Given the description of an element on the screen output the (x, y) to click on. 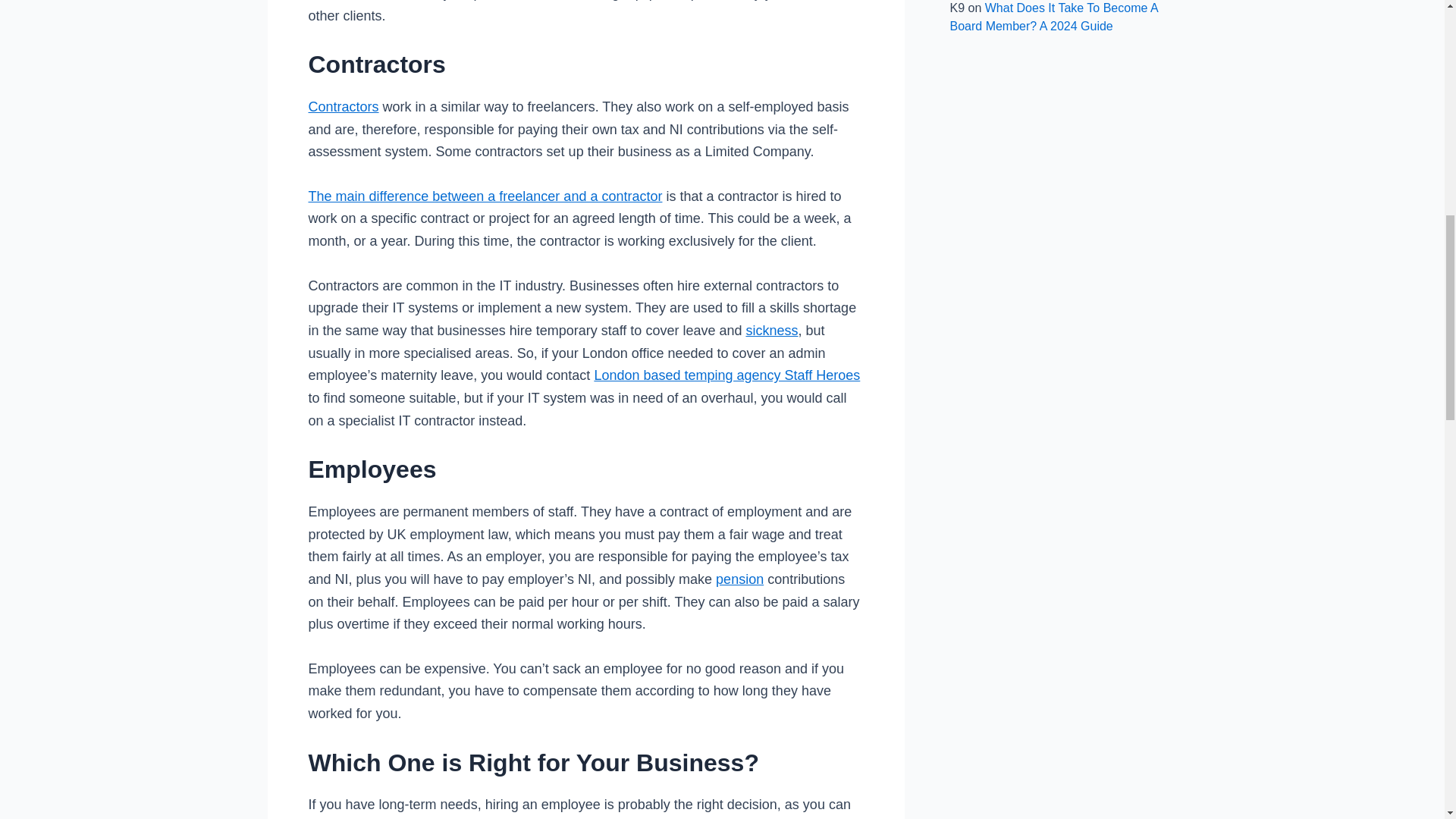
pension (739, 579)
London based temping agency Staff Heroes (727, 375)
The main difference between a freelancer and a contractor (484, 196)
sickness (771, 330)
Contractors (342, 106)
